Given the description of an element on the screen output the (x, y) to click on. 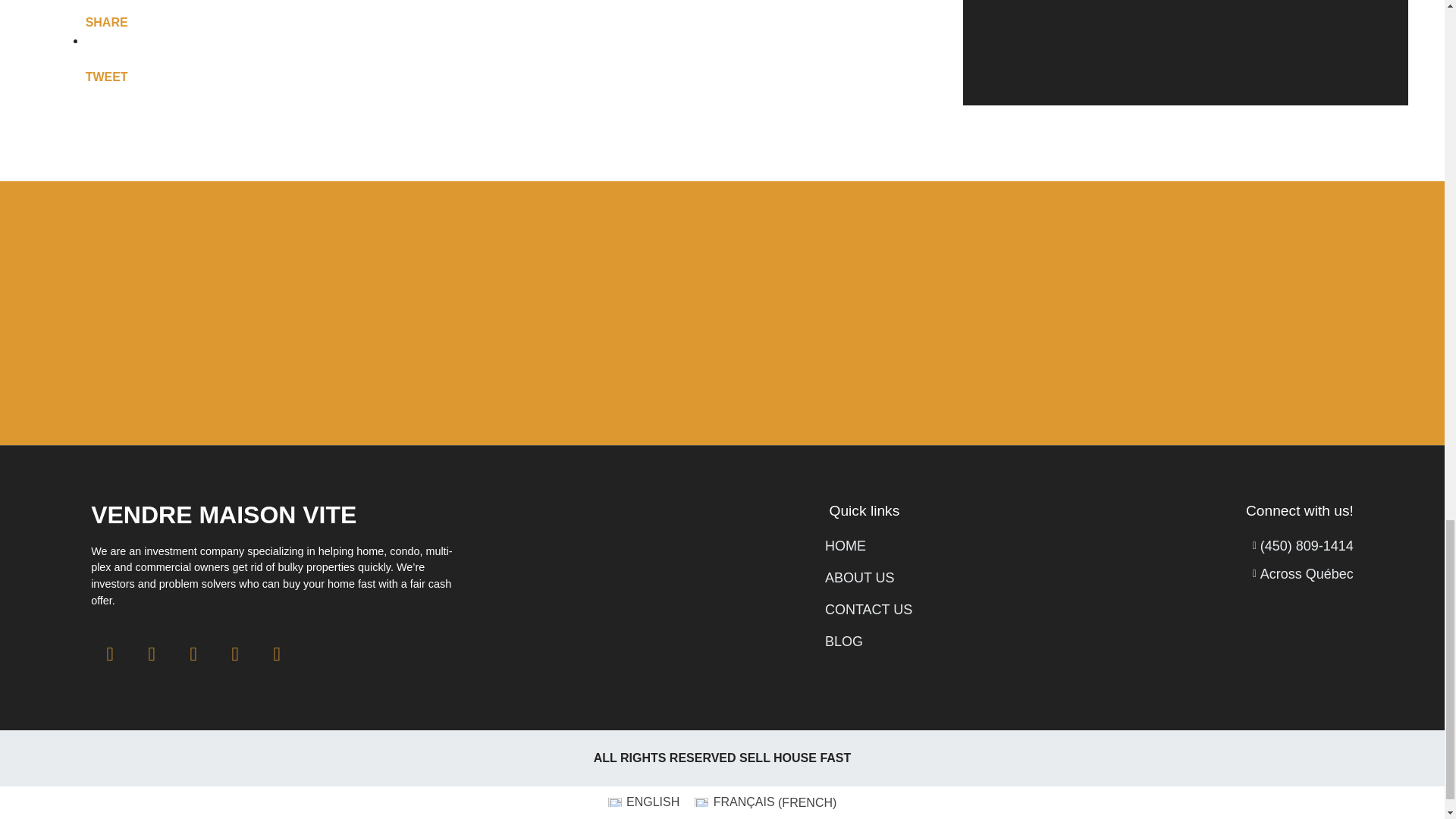
CONTACT US (868, 609)
HOME (868, 546)
SHARE (106, 23)
BLOG (868, 641)
ENGLISH (643, 803)
Share on Facebook (106, 23)
VENDRE MAISON VITE (223, 514)
ABOUT US (868, 578)
